Given the description of an element on the screen output the (x, y) to click on. 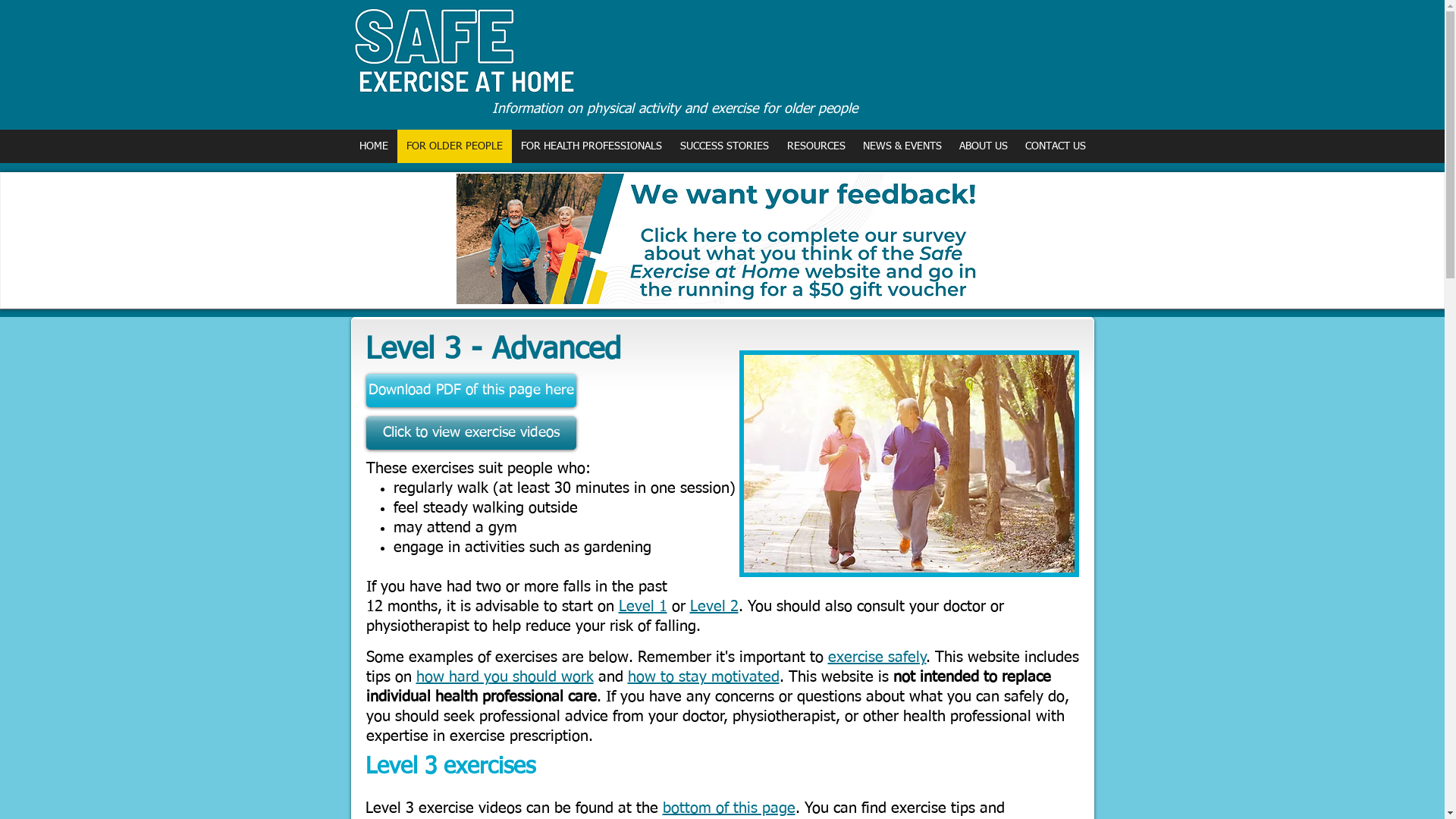
HOME Element type: text (373, 146)
Download PDF of this page here Element type: text (470, 390)
FOR OLDER PEOPLE Element type: text (454, 146)
ABOUT US Element type: text (982, 146)
Level 2 Element type: text (714, 606)
SUCCESS STORIES Element type: text (723, 146)
exercise safely Element type: text (877, 657)
RESOURCES Element type: text (815, 146)
CONTACT US Element type: text (1055, 146)
how hard you should work Element type: text (504, 676)
how to stay motivated Element type: text (703, 676)
bottom of this page Element type: text (728, 807)
NEWS & EVENTS Element type: text (901, 146)
Click to view exercise videos Element type: text (470, 432)
Level 1 Element type: text (642, 606)
FOR HEALTH PROFESSIONALS Element type: text (590, 146)
